Given the description of an element on the screen output the (x, y) to click on. 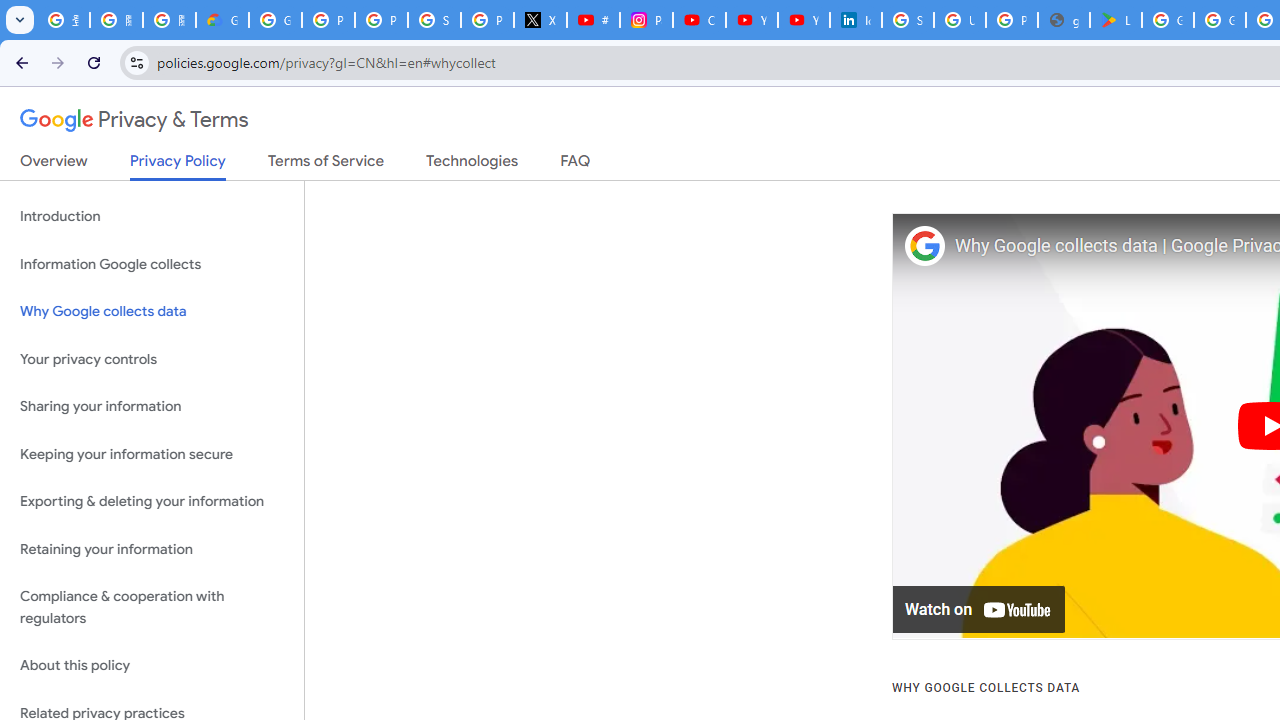
#nbabasketballhighlights - YouTube (593, 20)
Google Cloud Privacy Notice (222, 20)
Retaining your information (152, 548)
Your privacy controls (152, 358)
YouTube Culture & Trends - YouTube Top 10, 2021 (803, 20)
Exporting & deleting your information (152, 502)
